Given the description of an element on the screen output the (x, y) to click on. 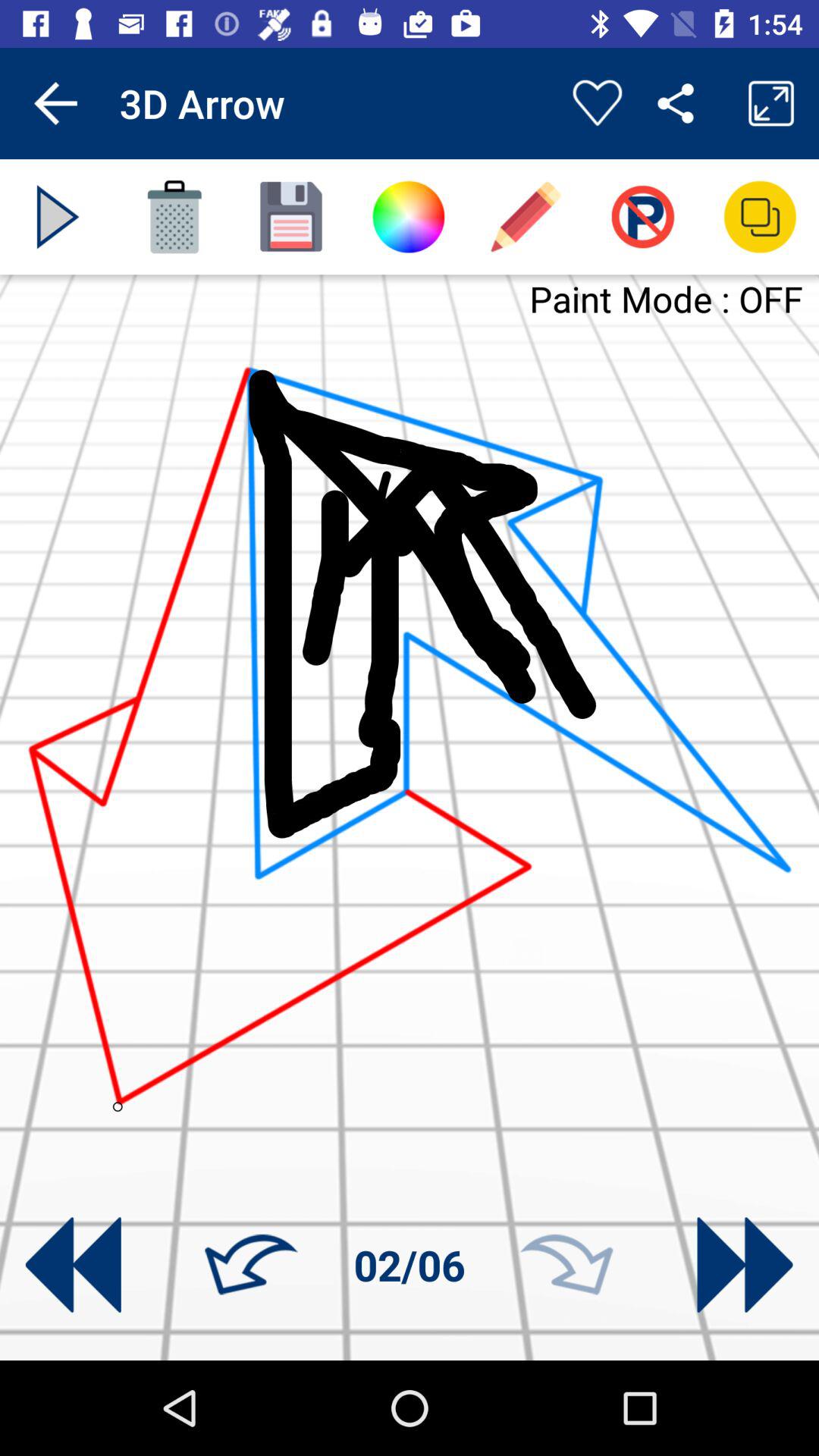
launch the icon to the left of the 02/06 icon (251, 1264)
